Given the description of an element on the screen output the (x, y) to click on. 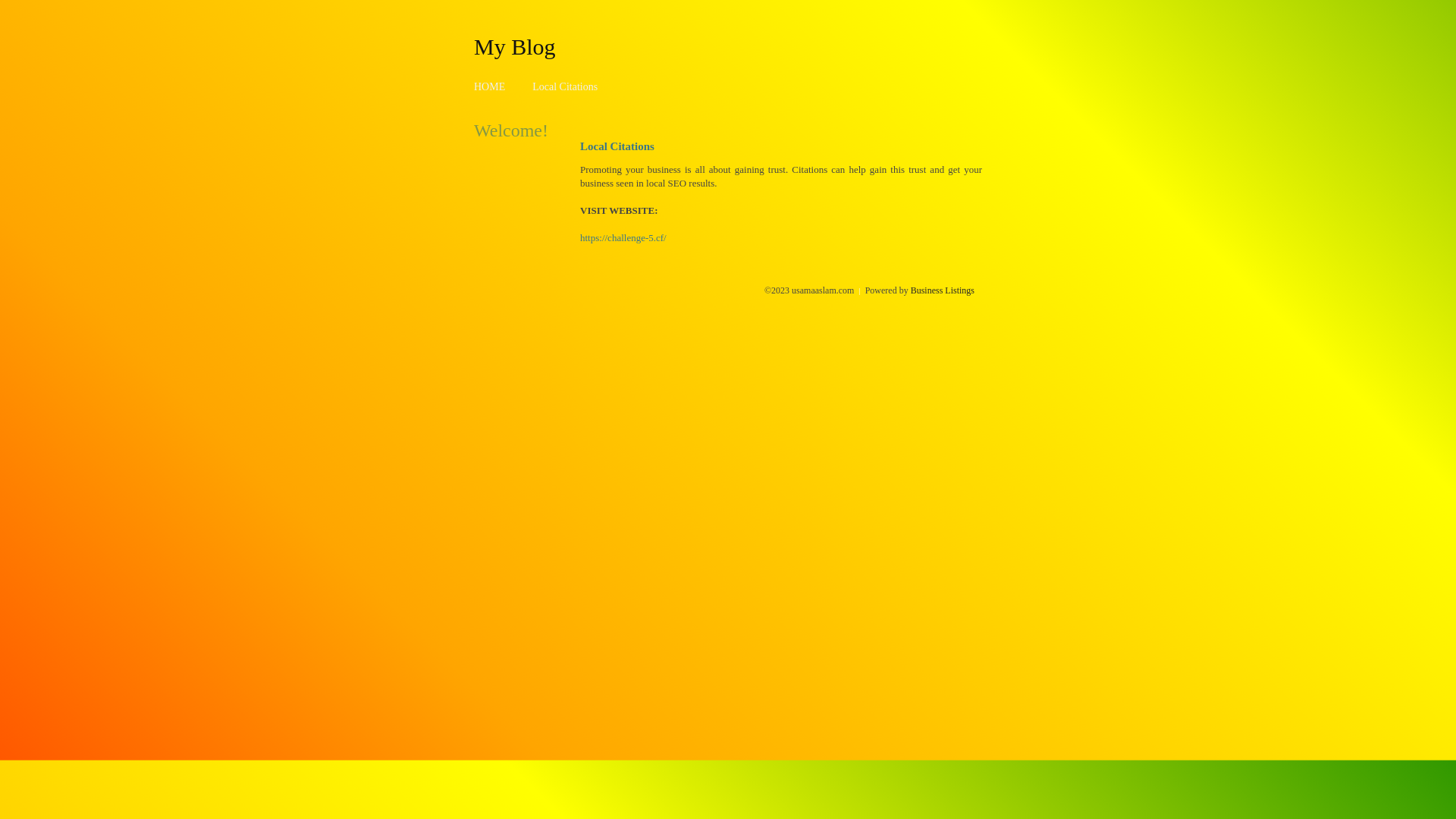
https://challenge-5.cf/ Element type: text (623, 237)
HOME Element type: text (489, 86)
Business Listings Element type: text (942, 290)
Local Citations Element type: text (564, 86)
My Blog Element type: text (514, 46)
